Given the description of an element on the screen output the (x, y) to click on. 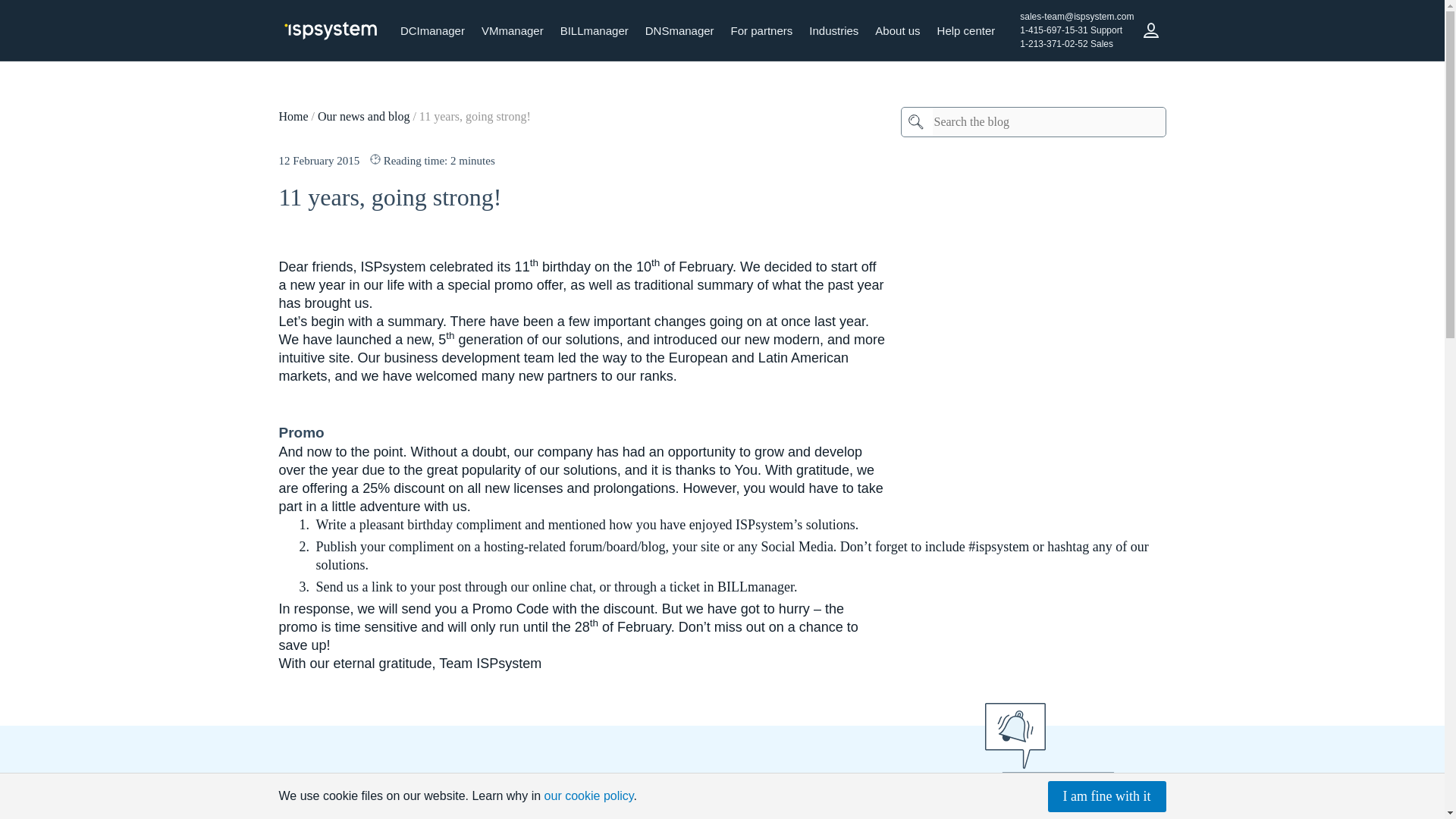
VMmanager (512, 30)
Industries (833, 30)
DNSmanager (679, 30)
BILLmanager (594, 30)
For partners (762, 30)
DCImanager (432, 30)
